Given the description of an element on the screen output the (x, y) to click on. 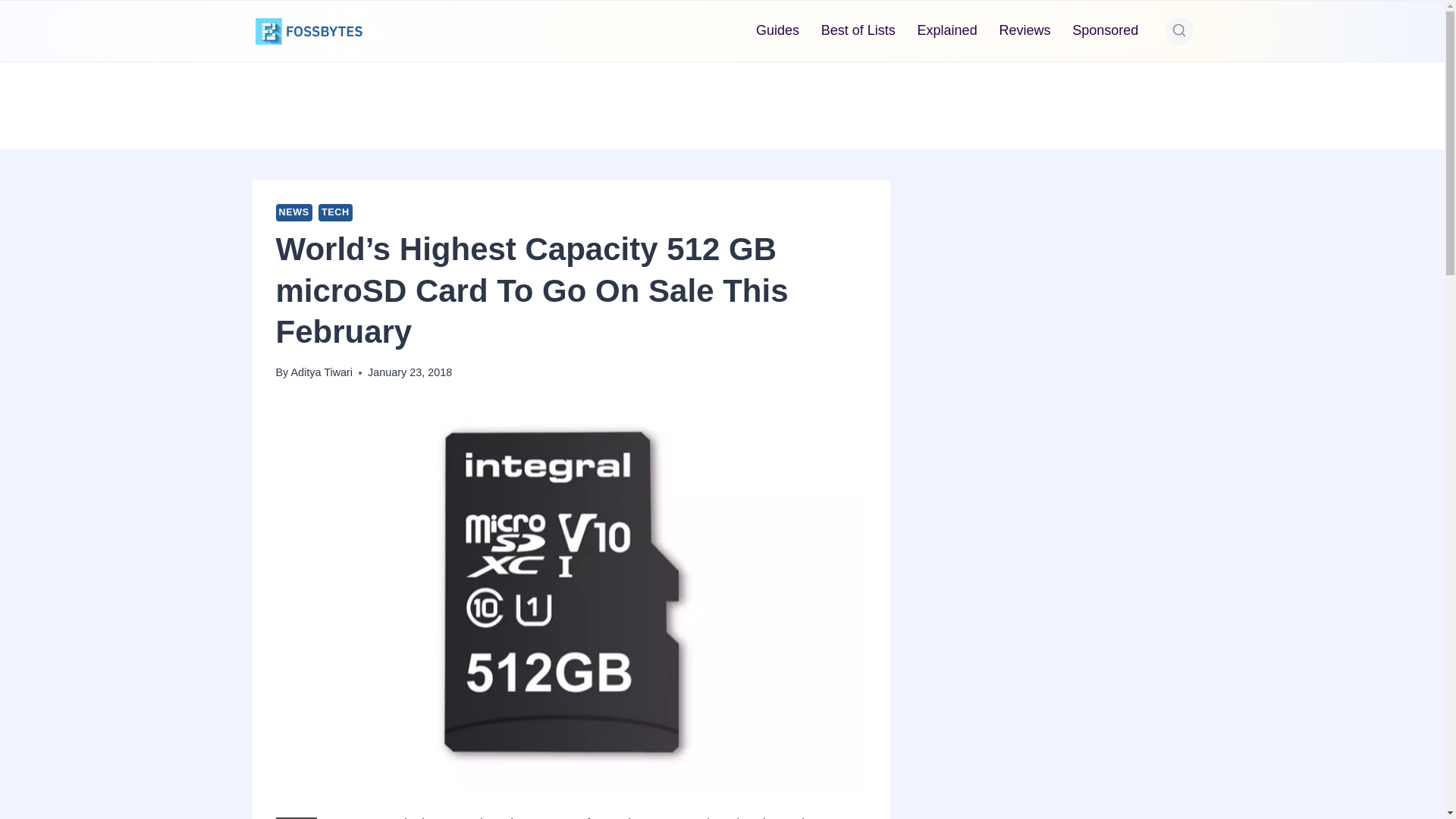
Advertisement (721, 101)
Guides (777, 30)
TECH (335, 212)
Reviews (1024, 30)
Aditya Tiwari (320, 372)
Sponsored (1105, 30)
Best of Lists (857, 30)
NEWS (294, 212)
Explained (946, 30)
